Given the description of an element on the screen output the (x, y) to click on. 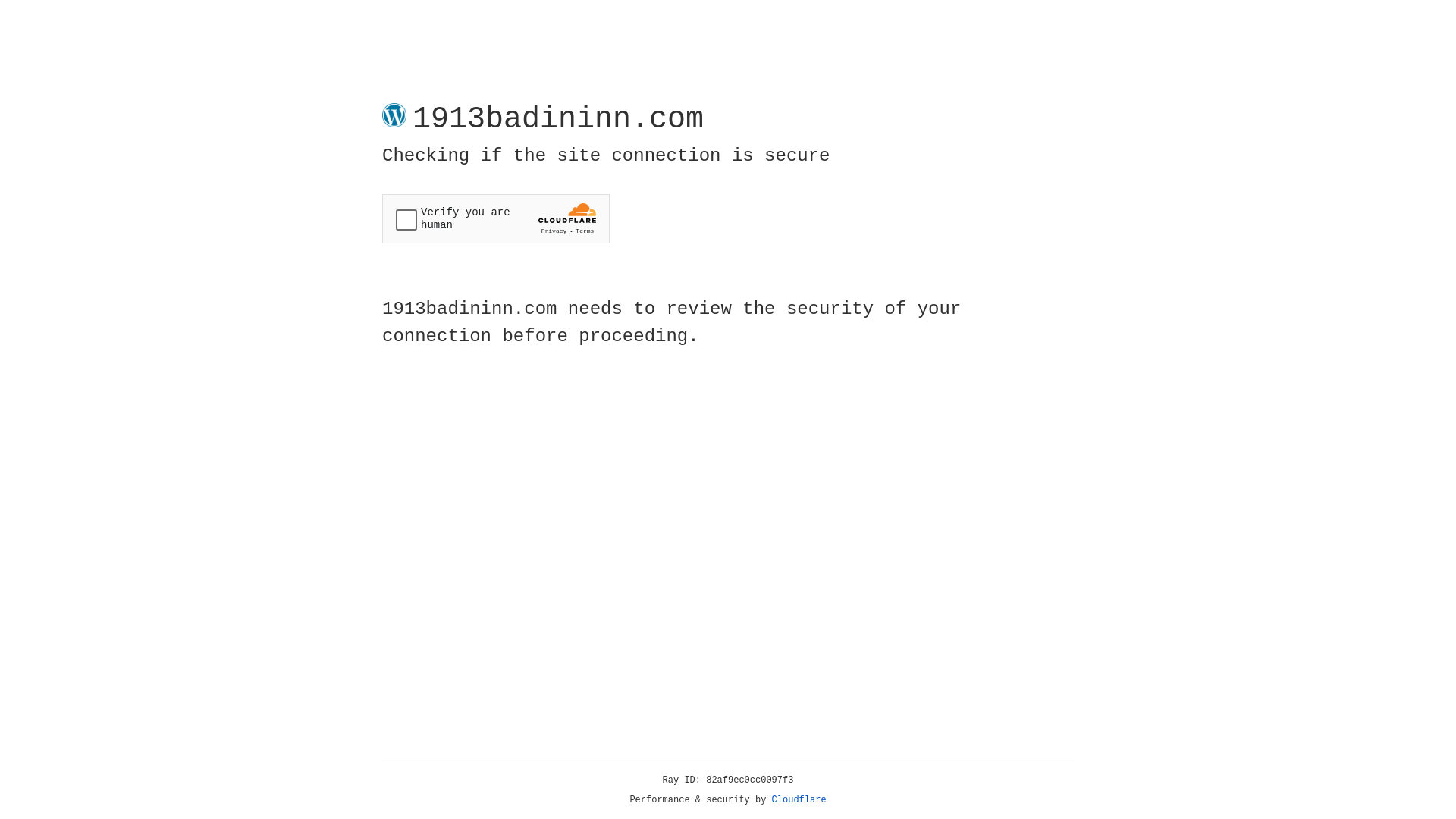
Cloudflare Element type: text (798, 799)
Widget containing a Cloudflare security challenge Element type: hover (495, 218)
